Given the description of an element on the screen output the (x, y) to click on. 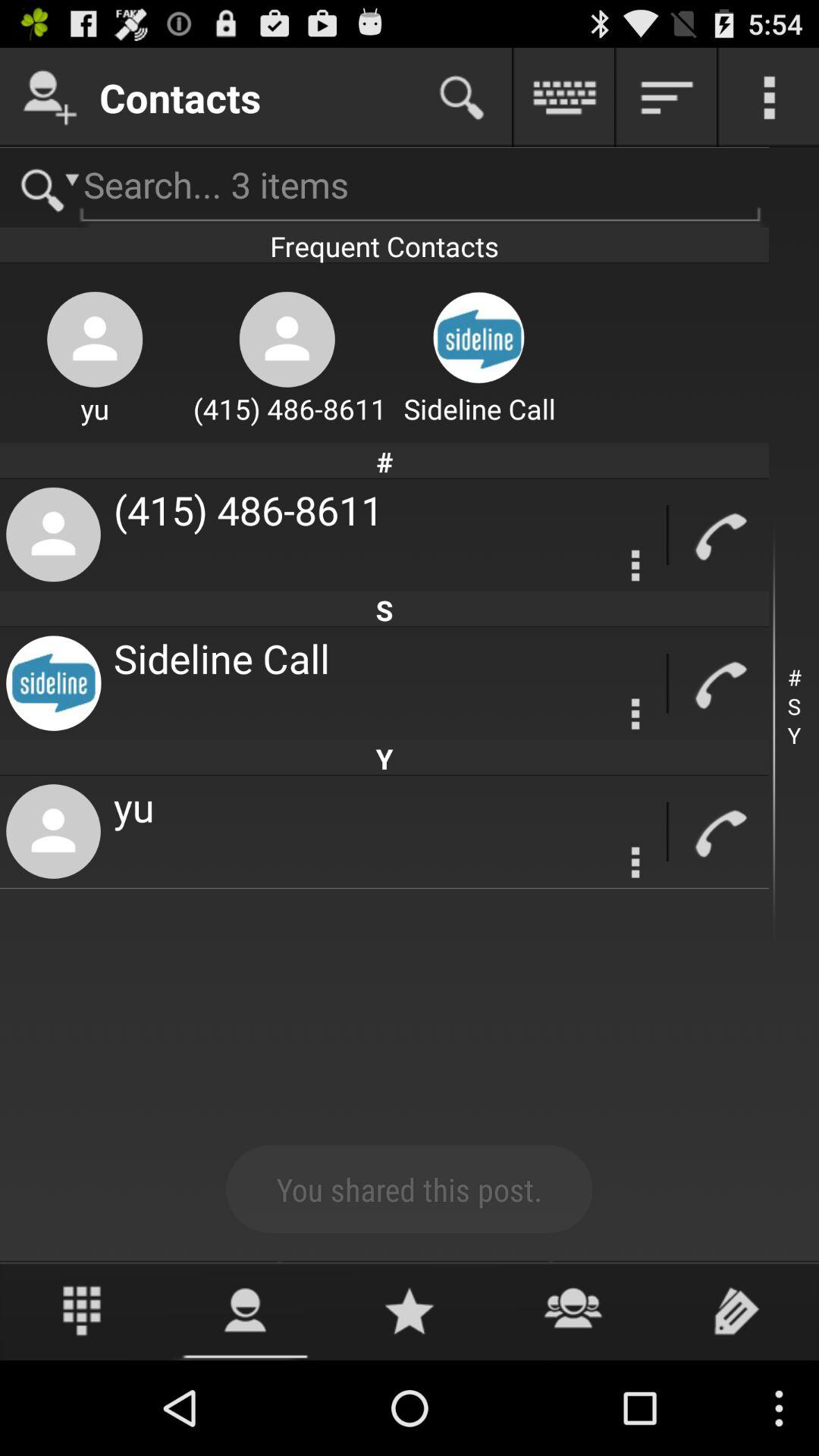
search page (461, 97)
